Given the description of an element on the screen output the (x, y) to click on. 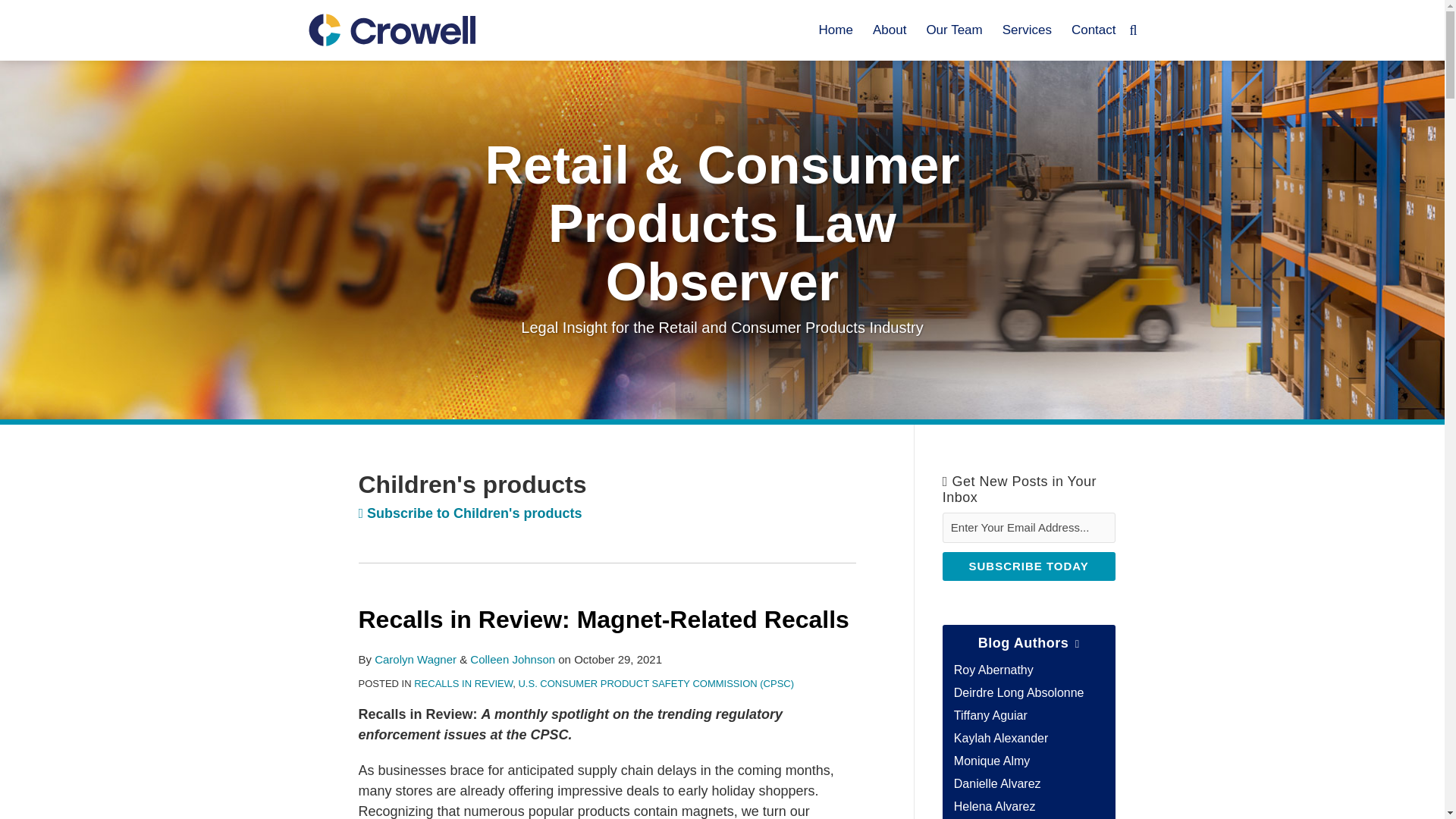
Helena Alvarez (994, 806)
Roy Abernathy (993, 669)
Contact (1093, 30)
About (888, 30)
Subscribe to Children's products (469, 513)
Carolyn Wagner (415, 658)
Deirdre Long Absolonne (1018, 692)
Kaylah Alexander (1000, 738)
Subscribe Today (1028, 566)
Monique Almy (991, 760)
